Given the description of an element on the screen output the (x, y) to click on. 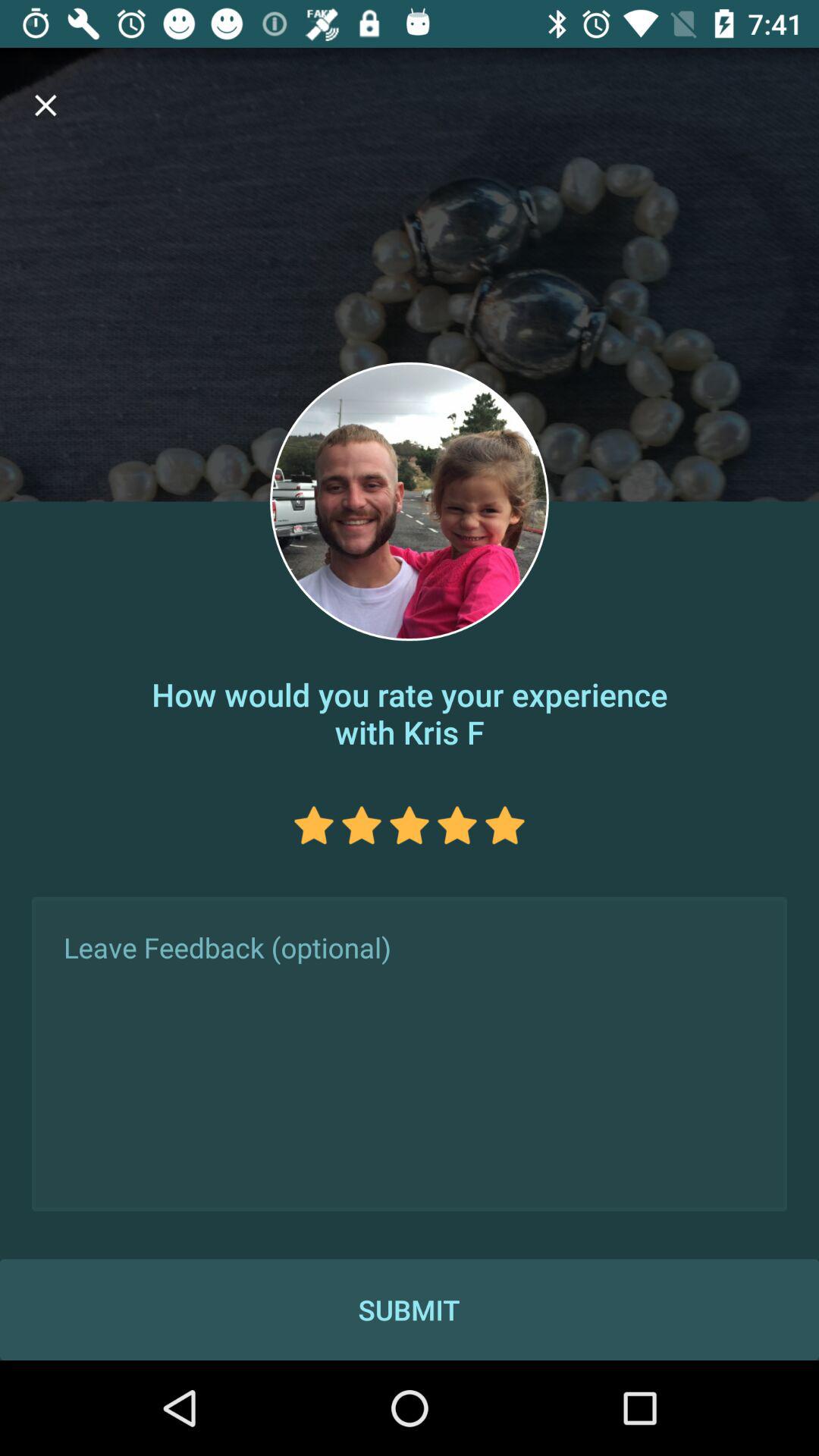
rate the star (313, 825)
